Given the description of an element on the screen output the (x, y) to click on. 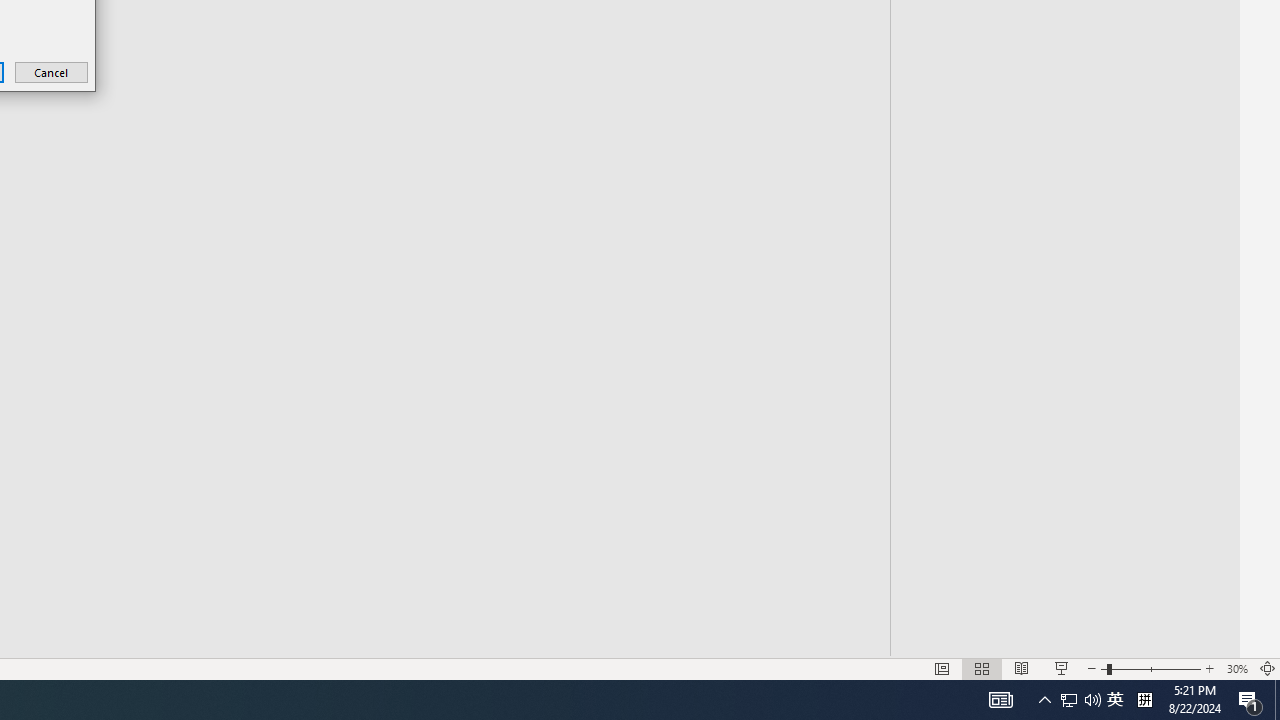
Zoom to Fit  (1267, 668)
Reading View (1069, 699)
Slide Sorter (1021, 668)
User Promoted Notification Area (982, 668)
Zoom Out (1080, 699)
Slide Show (1103, 668)
Zoom (1061, 668)
Zoom 30% (1150, 668)
Show desktop (1236, 668)
Cancel (1277, 699)
Zoom In (51, 72)
Q2790: 100% (1209, 668)
Normal (1092, 699)
Action Center, 1 new notification (941, 668)
